Given the description of an element on the screen output the (x, y) to click on. 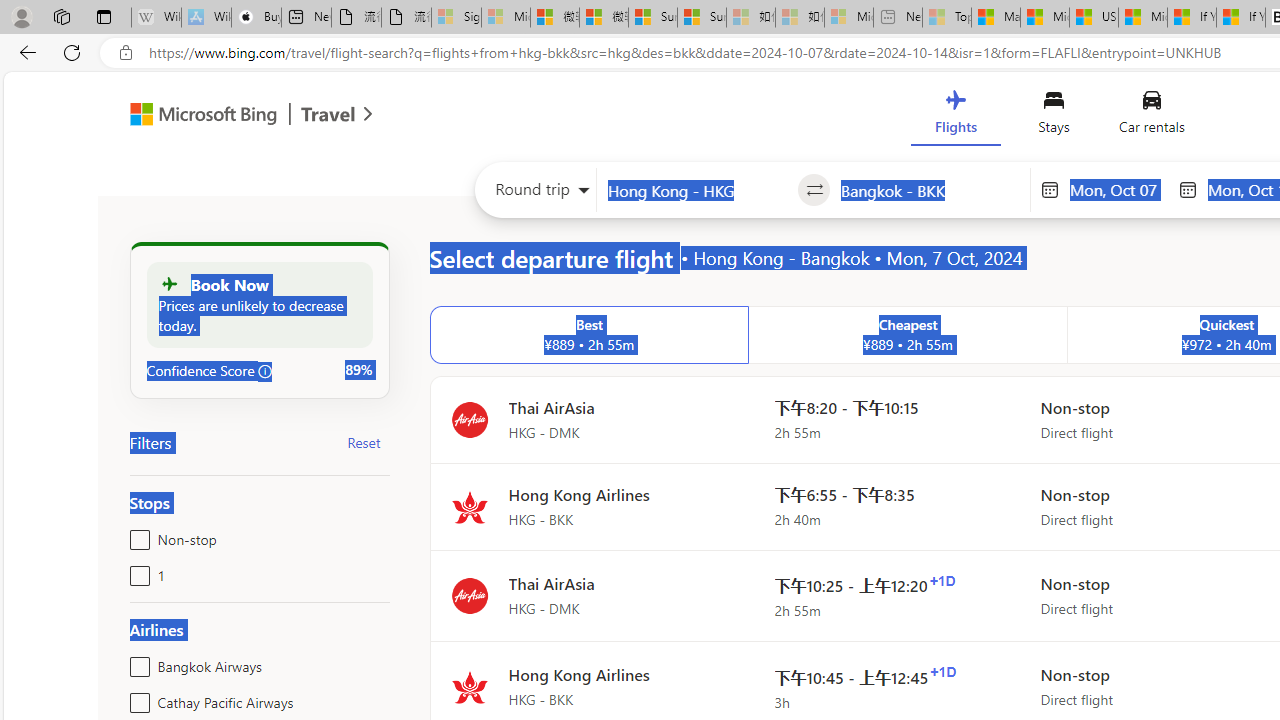
Non-stop (136, 535)
Top Stories - MSN - Sleeping (946, 17)
Swap source and destination (813, 189)
Microsoft Bing Travel (229, 116)
1 (136, 571)
Going to? (930, 190)
Info tooltip (265, 371)
Car rentals (1150, 116)
